Given the description of an element on the screen output the (x, y) to click on. 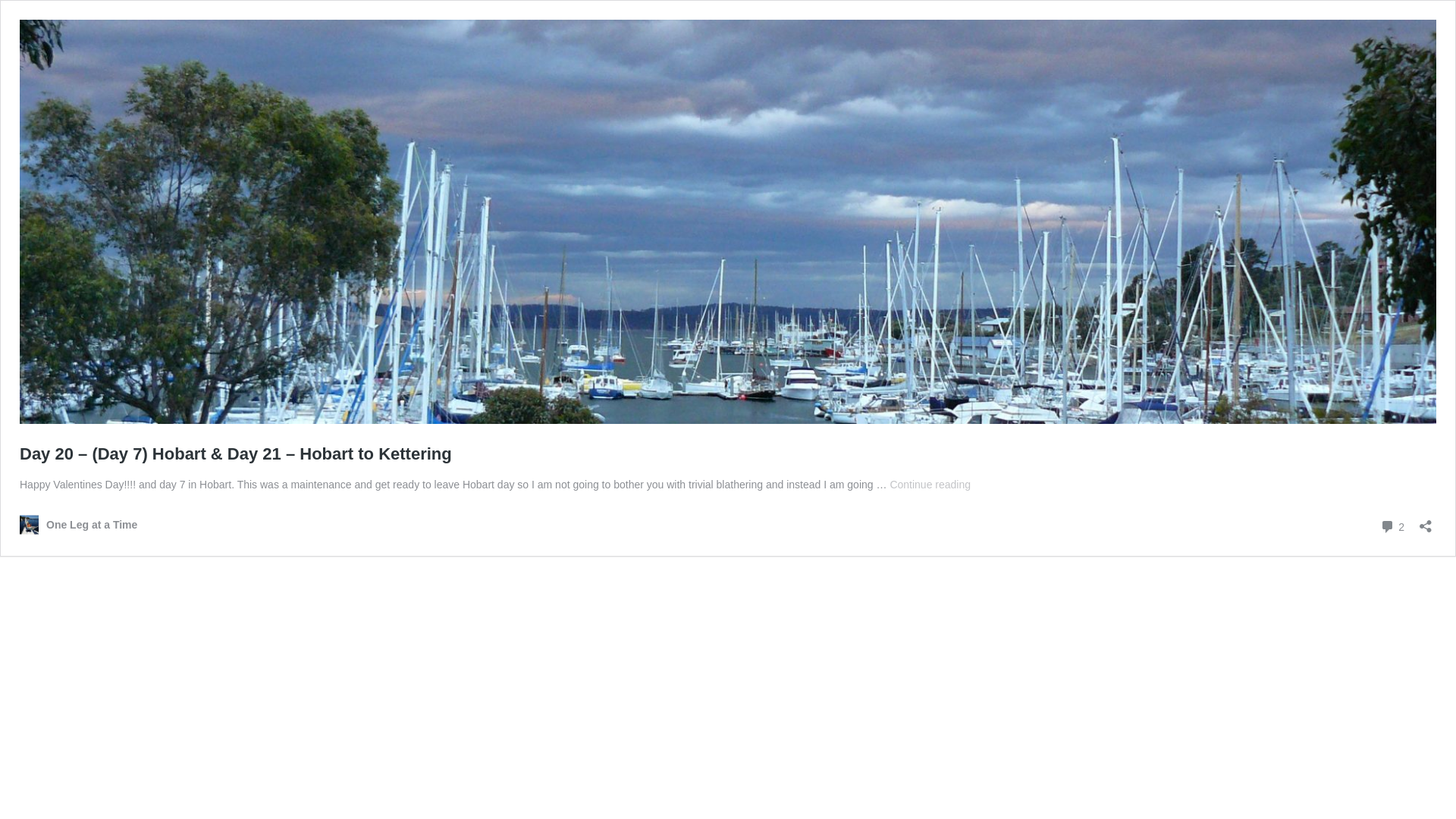
One Leg at a Time Element type: text (78, 524)
2
Comments Element type: text (1392, 525)
